Given the description of an element on the screen output the (x, y) to click on. 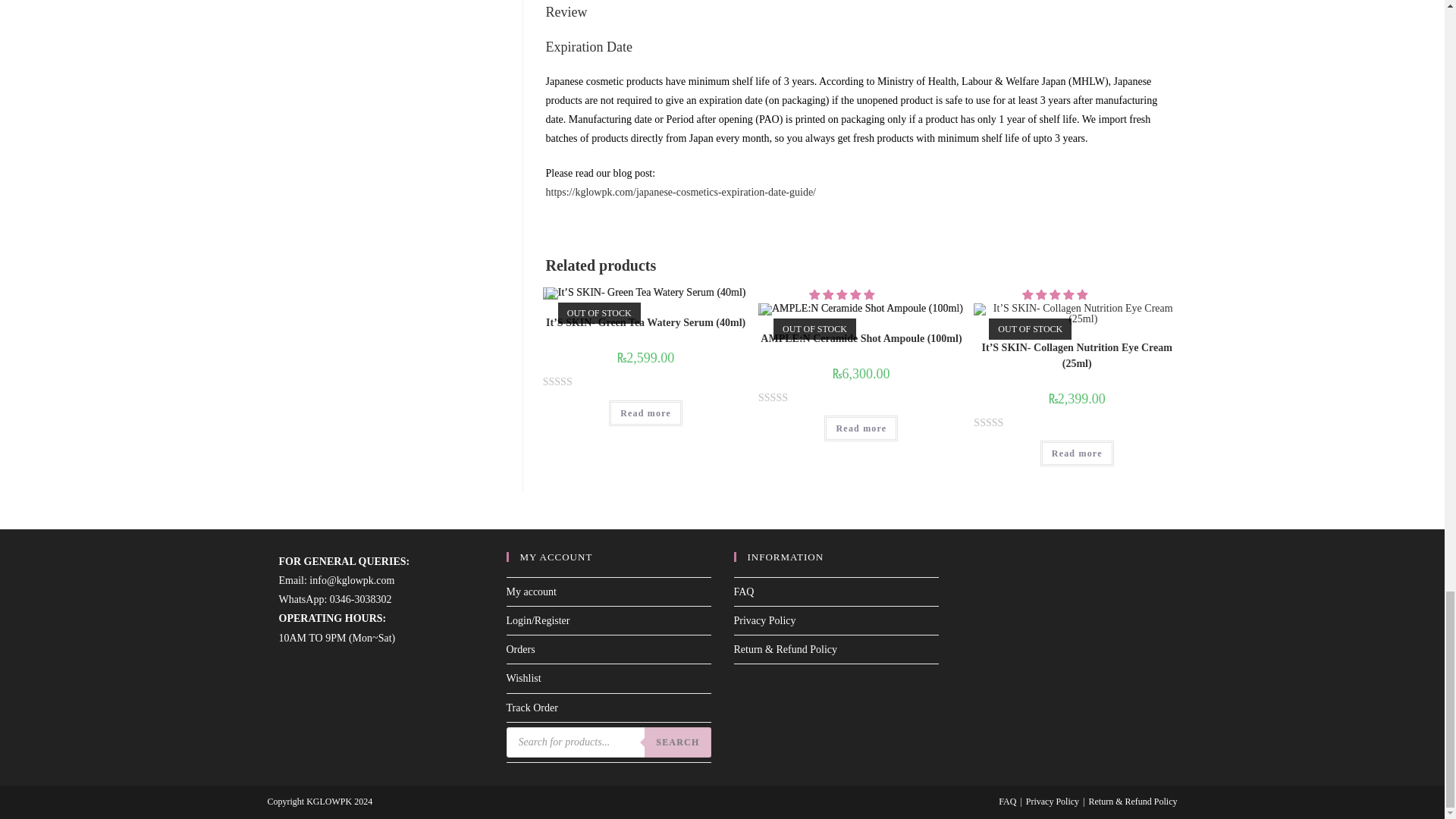
Minimum qty is 1 (861, 428)
Minimum qty is 1 (645, 412)
Minimum qty is 1 (1077, 453)
